Given the description of an element on the screen output the (x, y) to click on. 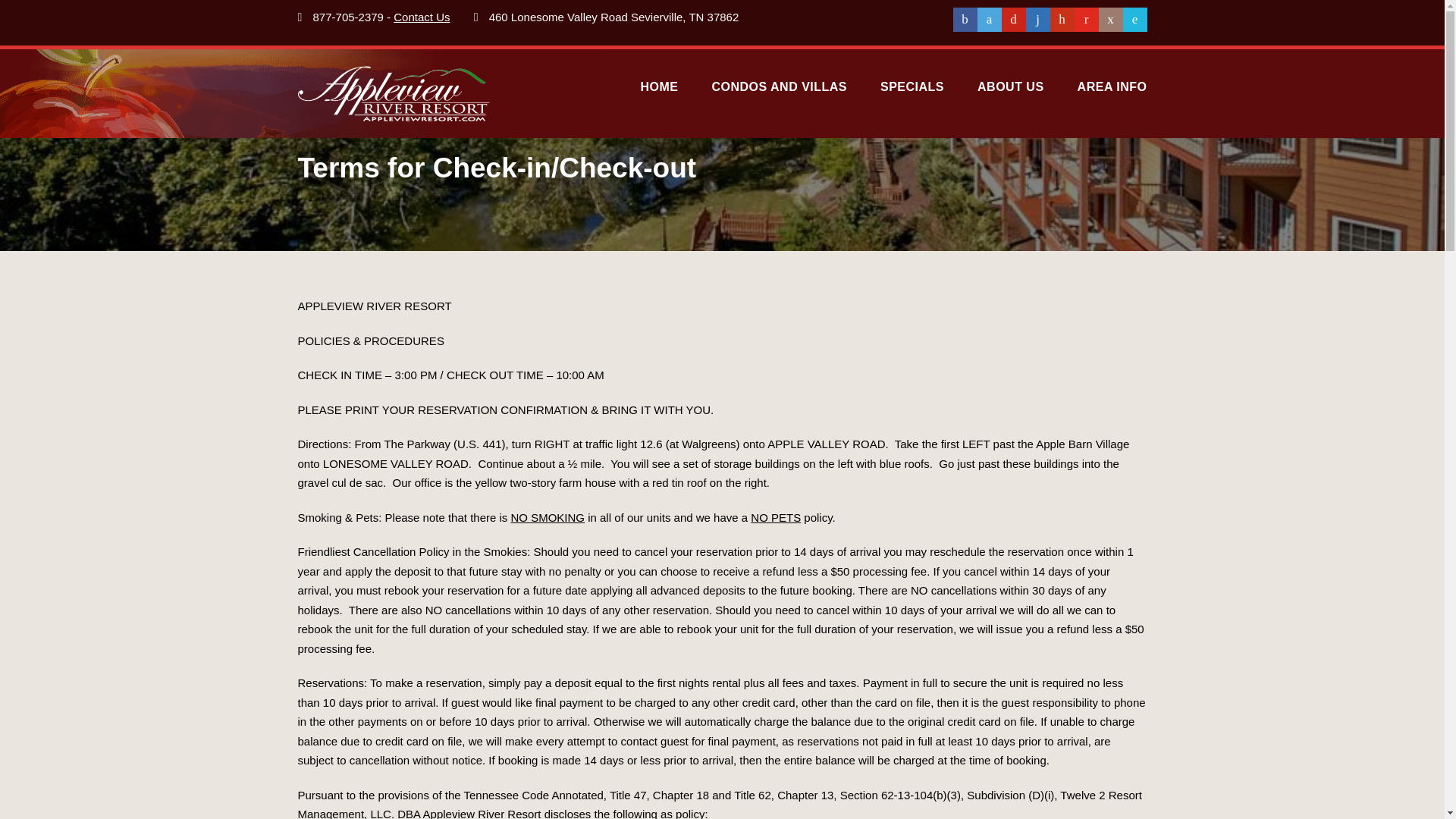
twitter (988, 19)
youtube (1085, 19)
yelp (1061, 19)
instagram (1109, 19)
pinterest (1013, 19)
877-705-2379 (348, 16)
HOME (659, 95)
linkedin (1037, 19)
foursquare (1134, 19)
facebook (964, 19)
